Given the description of an element on the screen output the (x, y) to click on. 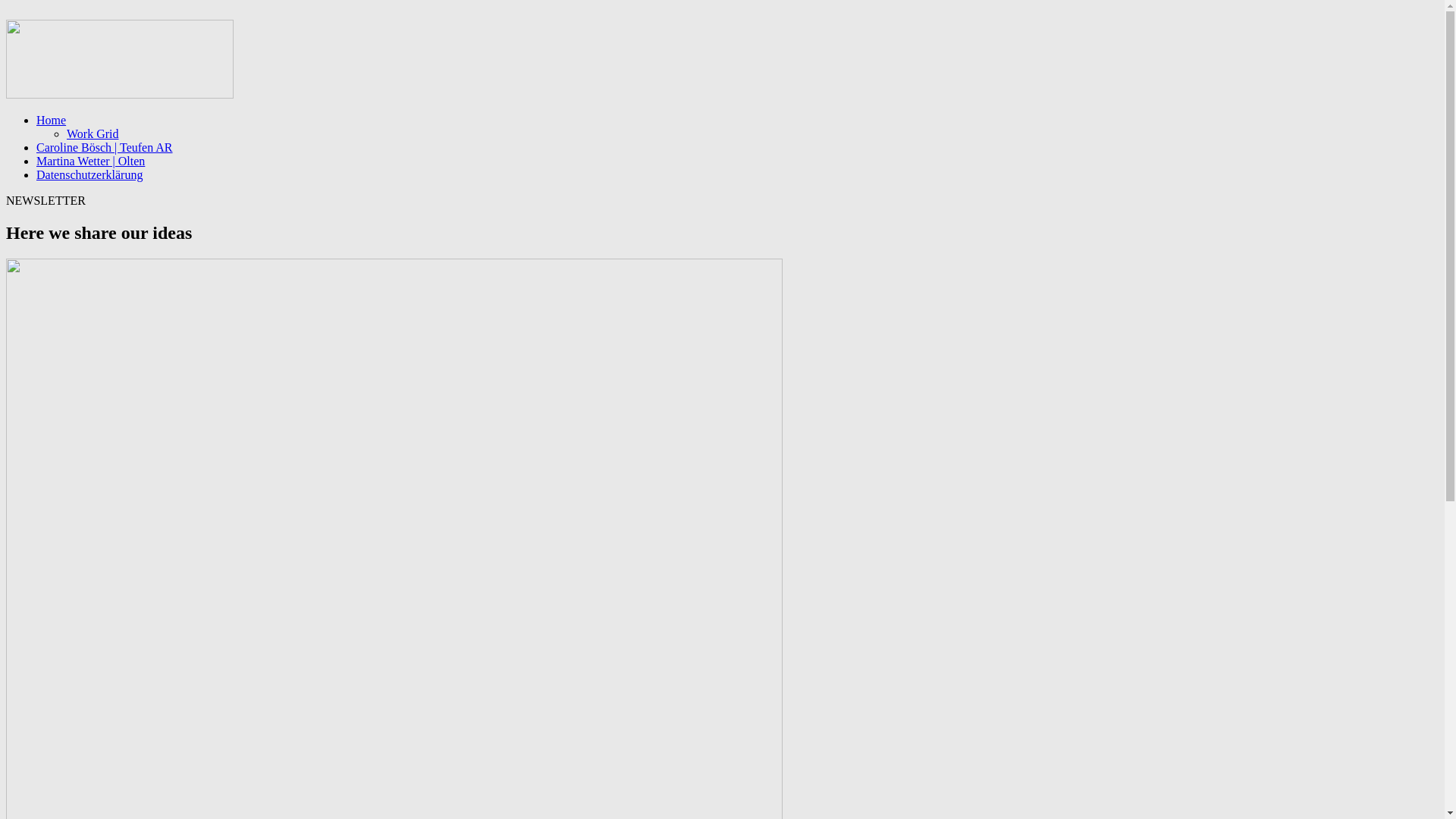
Home Element type: text (50, 119)
Work Grid Element type: text (92, 133)
Martina Wetter | Olten Element type: text (90, 160)
